Given the description of an element on the screen output the (x, y) to click on. 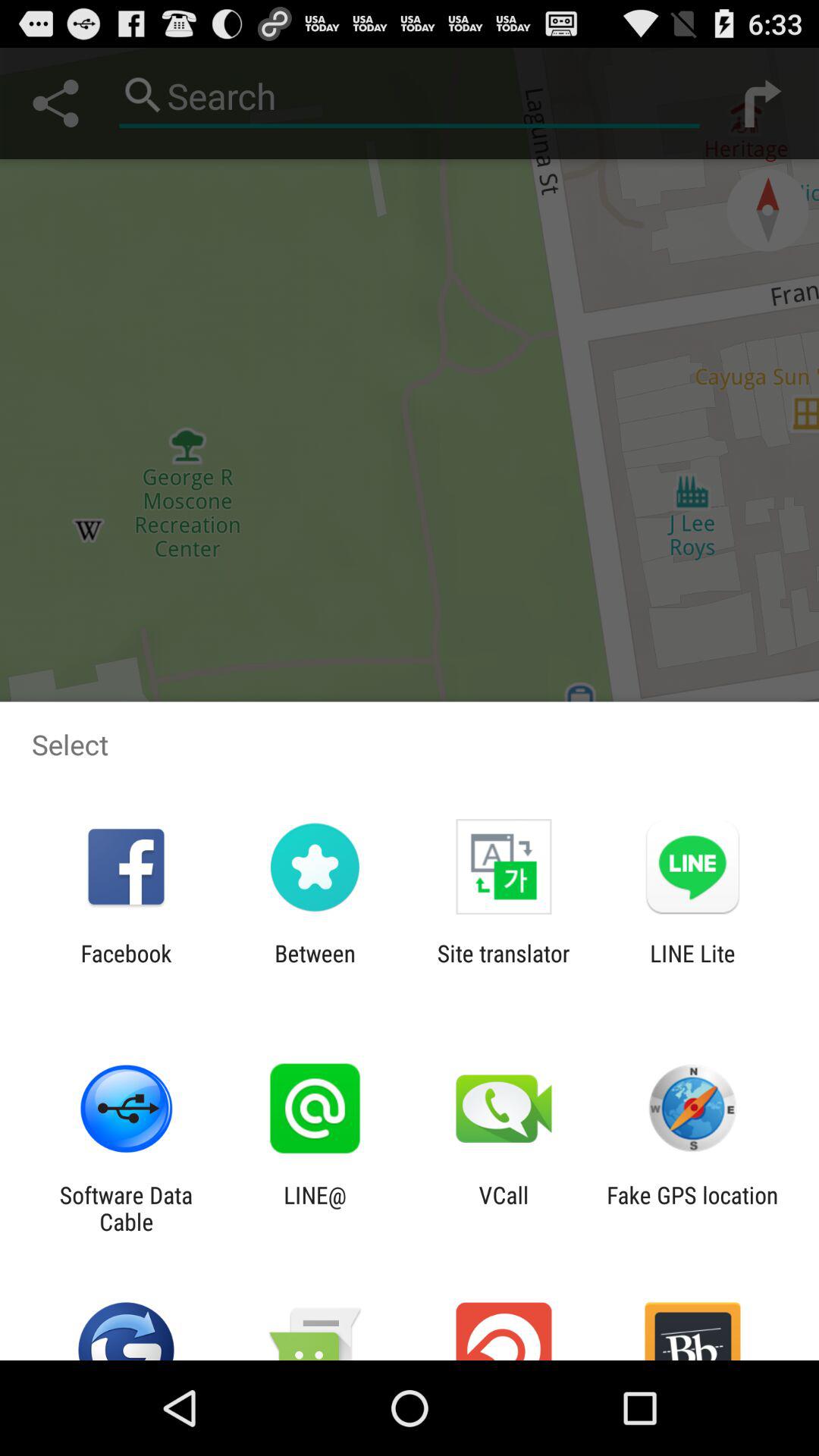
select the vcall app (503, 1208)
